Given the description of an element on the screen output the (x, y) to click on. 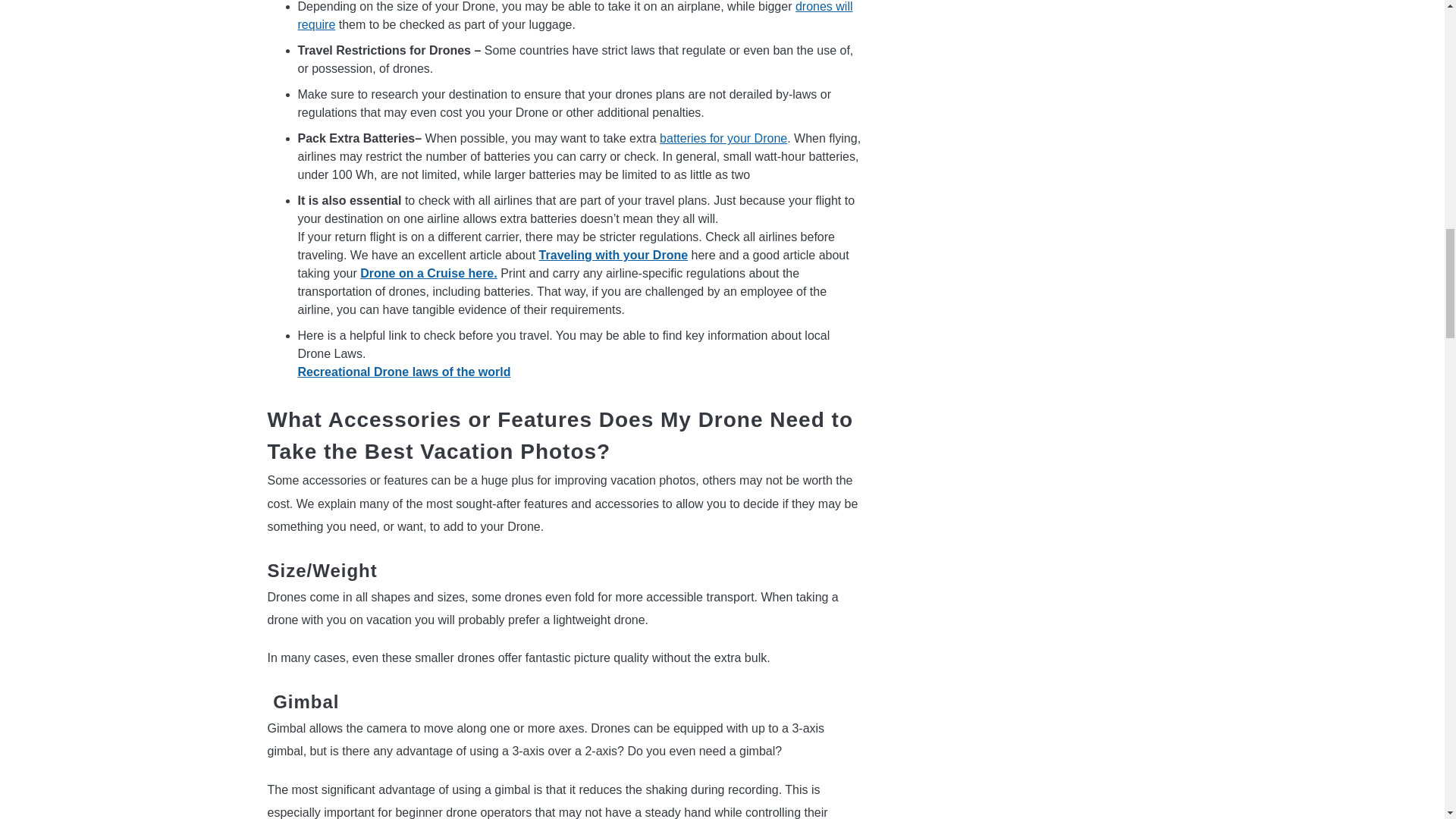
Drone on a Cruise here. (428, 273)
drones will require (574, 15)
Traveling with your Drone (612, 254)
batteries for your Drone (723, 137)
Recreational Drone laws of the world (404, 371)
